Given the description of an element on the screen output the (x, y) to click on. 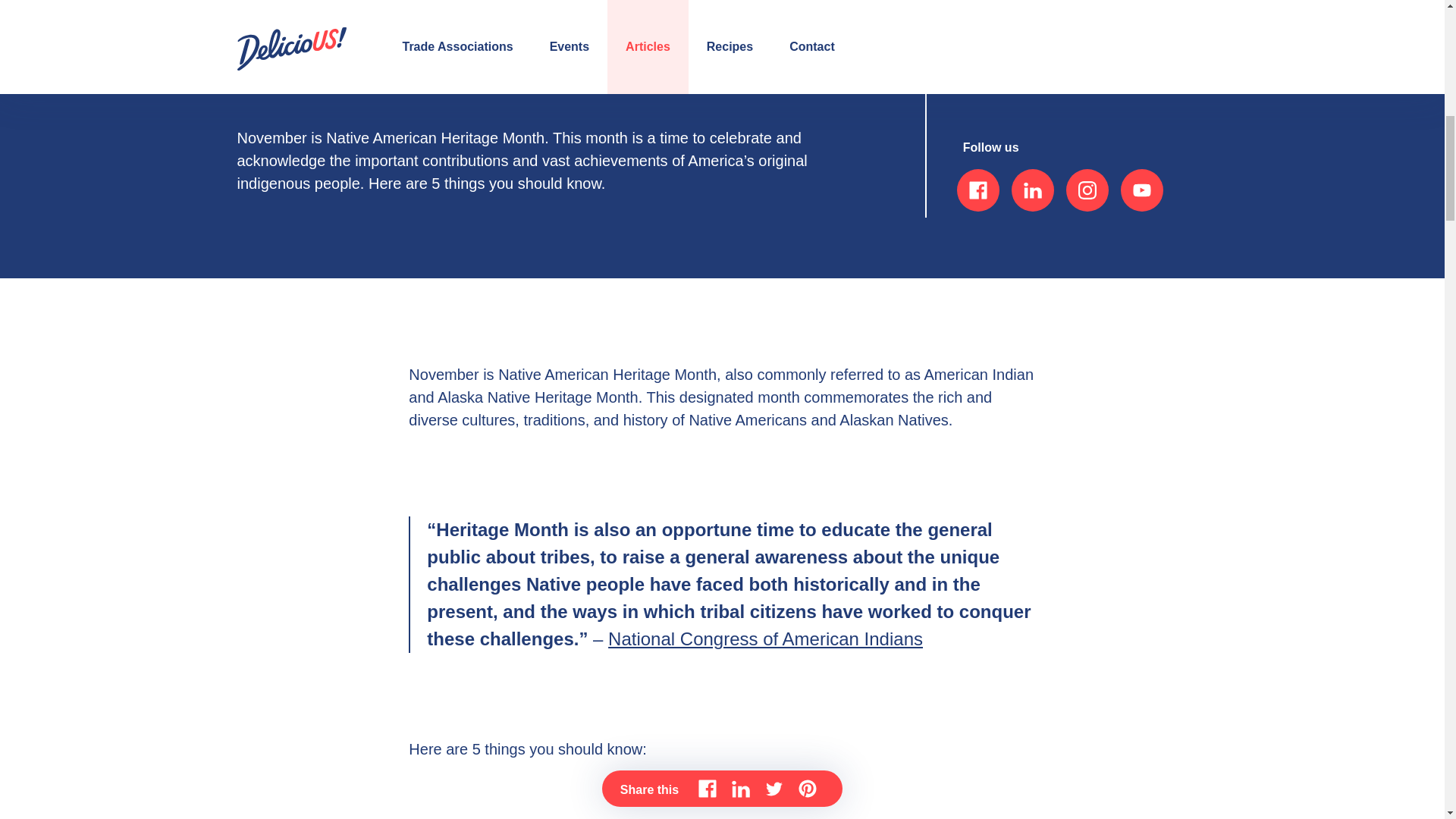
contact us (1009, 67)
Facebook (977, 189)
LinkedIn (1032, 189)
National Congress of American Indians (765, 638)
YouTube (1142, 189)
Instagram (1086, 189)
